Given the description of an element on the screen output the (x, y) to click on. 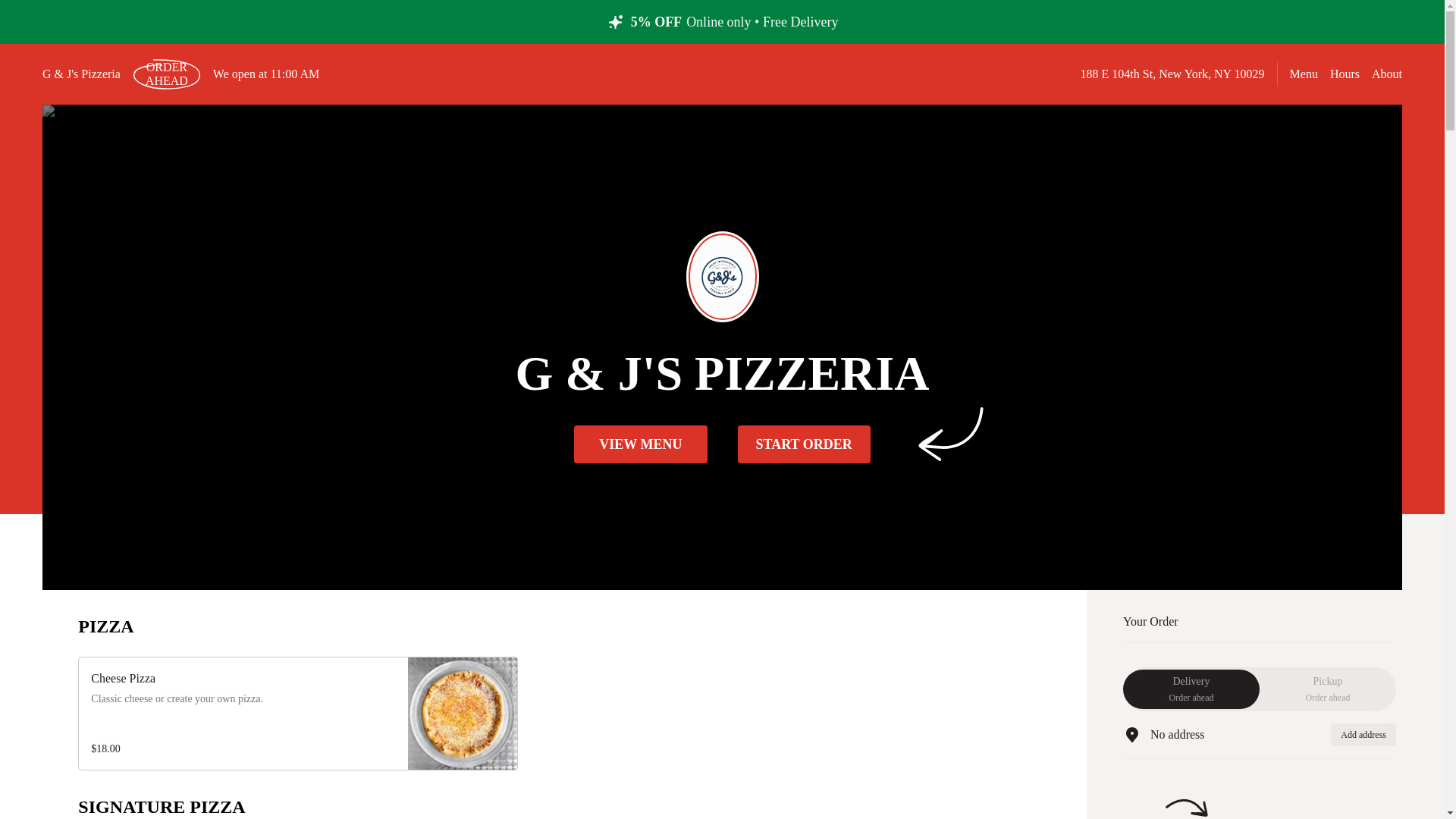
START ORDER (1327, 689)
VIEW MENU (802, 444)
ORDER AHEAD (1190, 689)
Menu (639, 444)
Add address (166, 73)
About (1303, 73)
Hours (1363, 734)
